Given the description of an element on the screen output the (x, y) to click on. 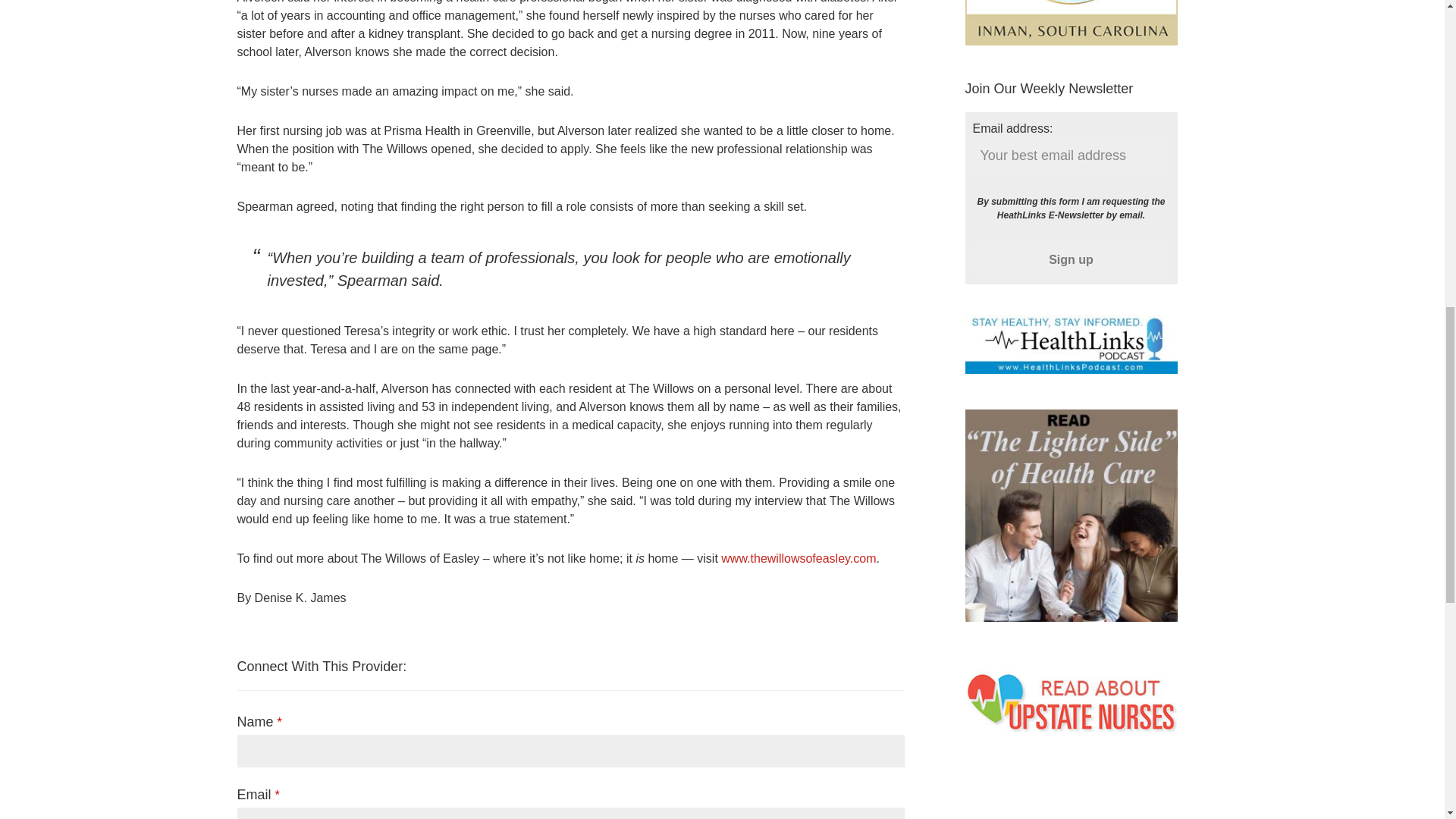
Sign up (1070, 259)
www.thewillowsofeasley.com (798, 558)
Sign up (1070, 259)
